Given the description of an element on the screen output the (x, y) to click on. 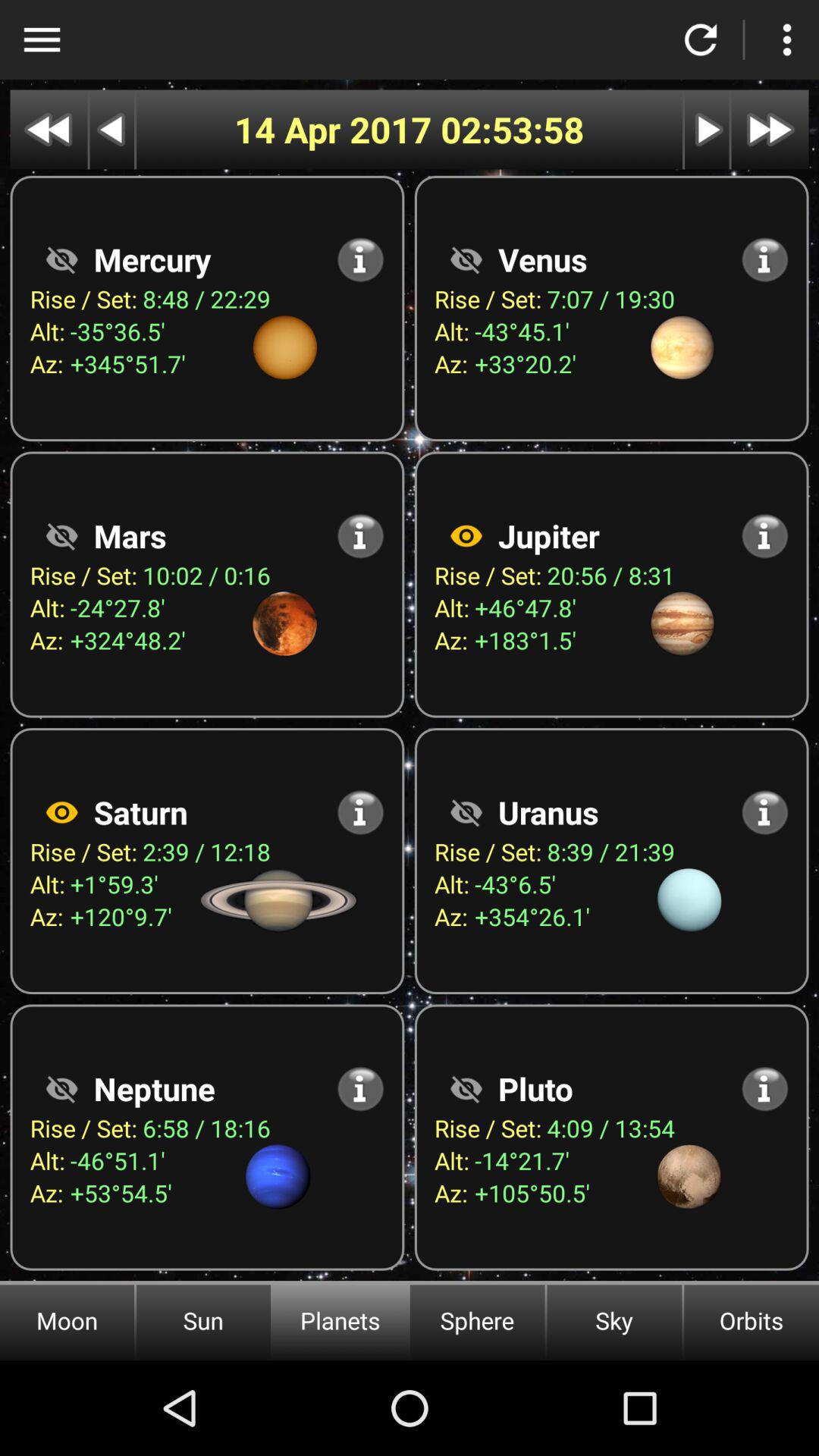
open settings menu (787, 39)
